Given the description of an element on the screen output the (x, y) to click on. 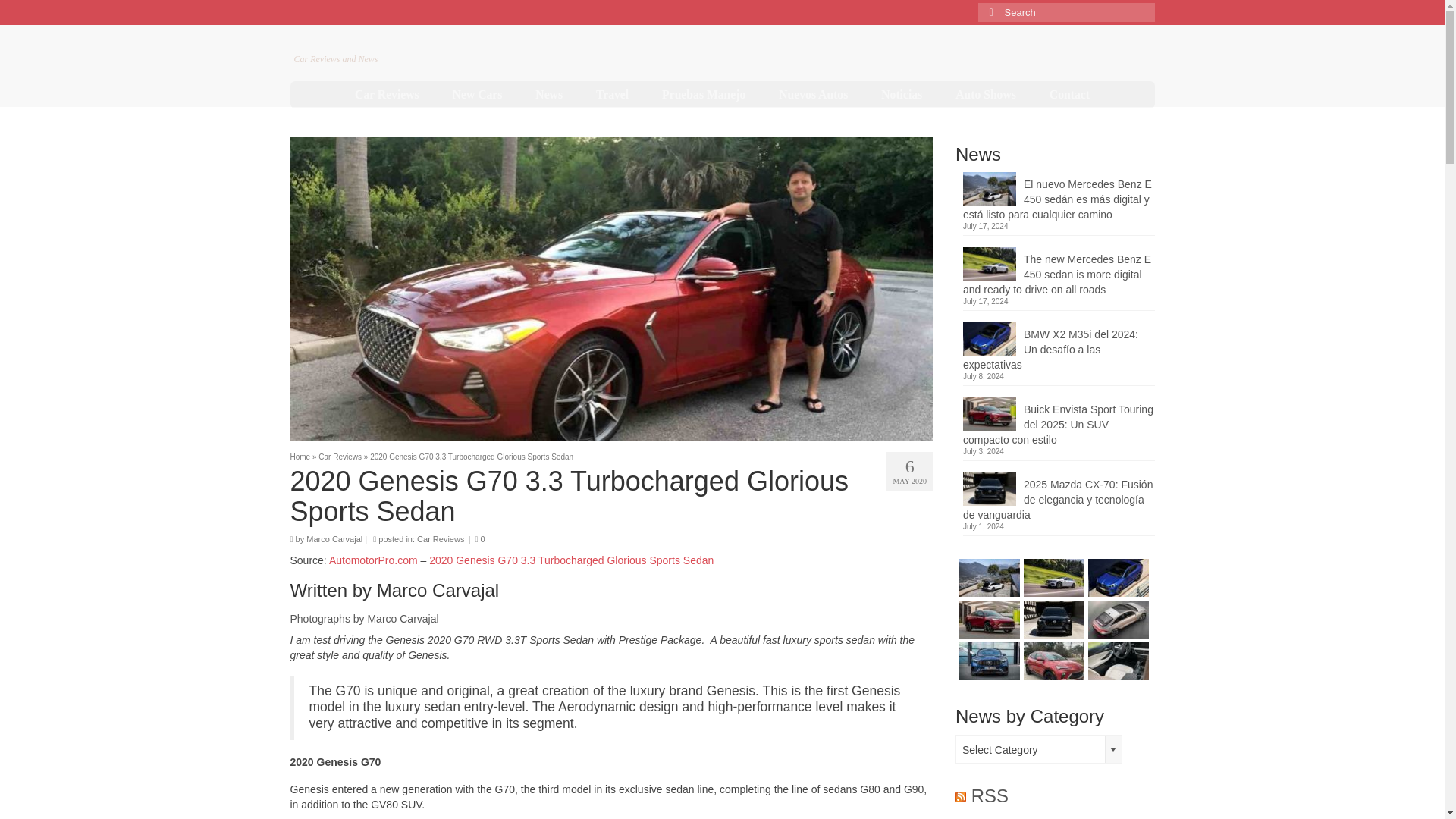
Travel (611, 94)
Noticias (901, 94)
Nuevos Autos (812, 94)
News (548, 94)
Auto Shows (985, 94)
Car Reviews (386, 94)
Contact (1069, 94)
AutomotorMassachusetts.com (432, 42)
Pruebas Manejo (703, 94)
AutomotorMassachusetts.com (432, 42)
New Cars (478, 94)
